Given the description of an element on the screen output the (x, y) to click on. 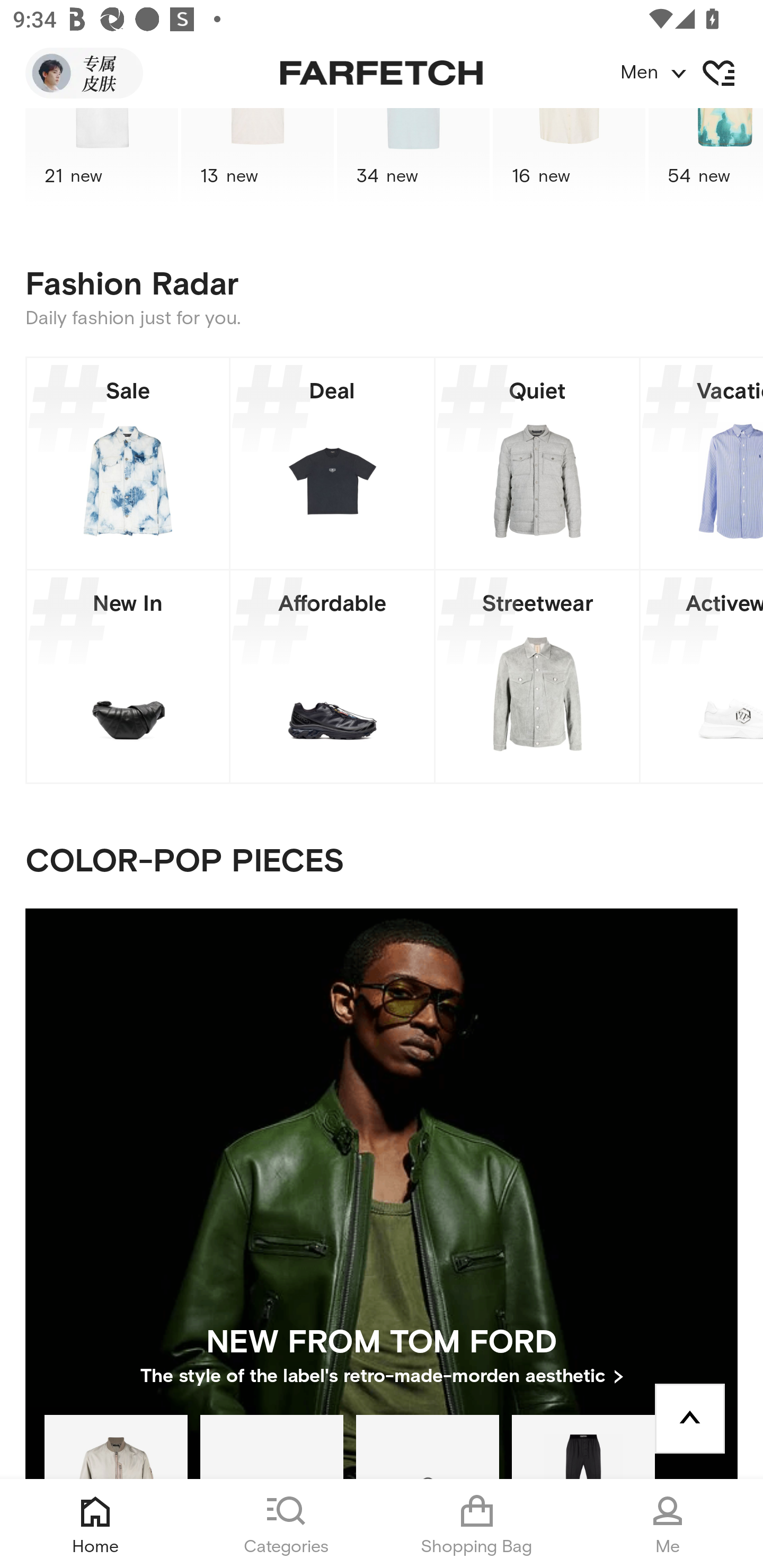
Men (691, 72)
21  new (101, 157)
13  new (257, 157)
34  new (413, 157)
16  new (568, 157)
54  new (705, 157)
Sale (127, 463)
Deal (332, 463)
Quiet (537, 463)
Vacation (701, 463)
New In (127, 676)
Affordable (332, 676)
Streetwear (537, 676)
Activewear (701, 676)
TOM FORD (582, 1446)
Categories (285, 1523)
Shopping Bag (476, 1523)
Me (667, 1523)
